Given the description of an element on the screen output the (x, y) to click on. 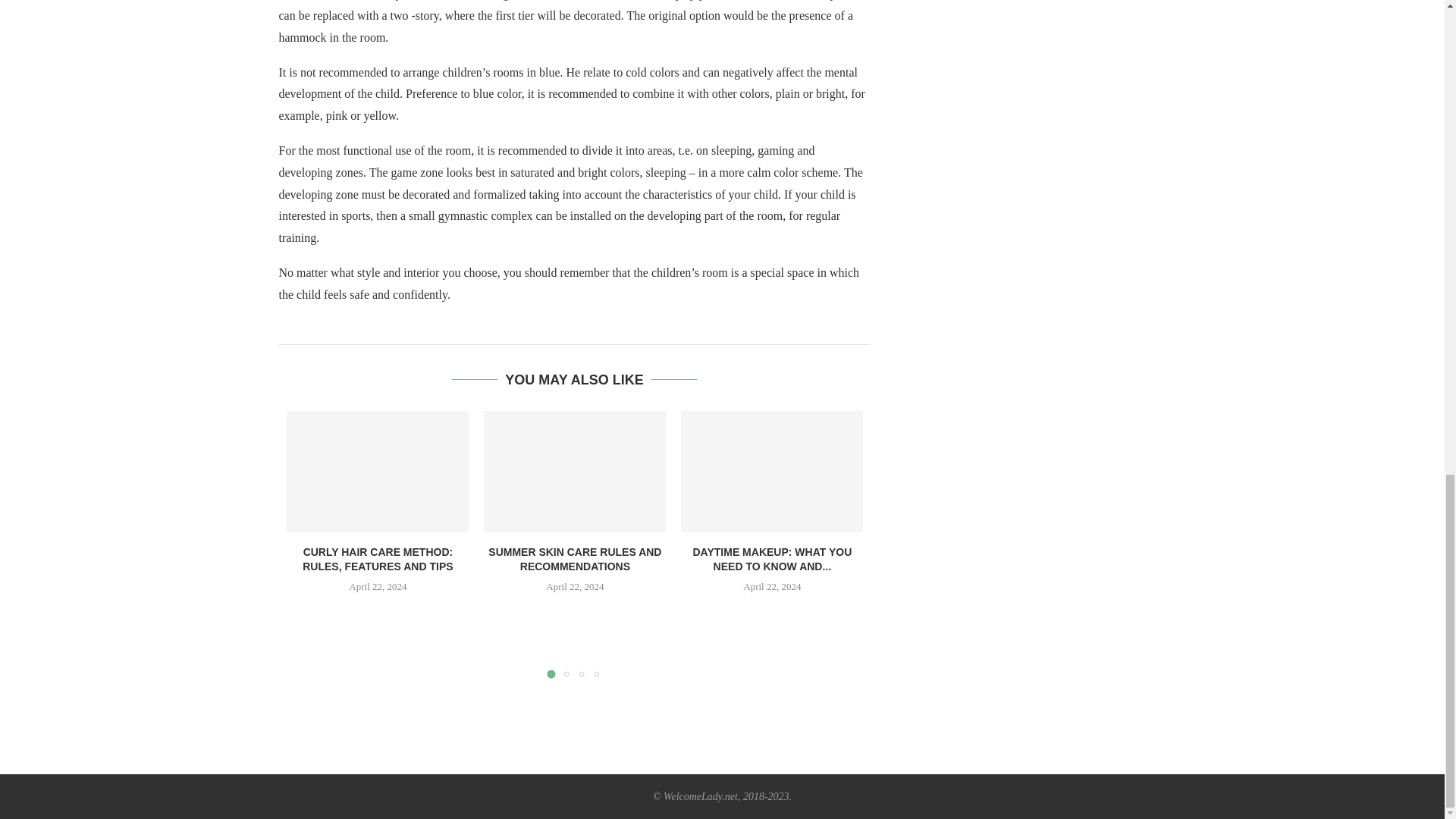
Summer skin care rules and recommendations (574, 471)
Daytime makeup: what you need to know and rules (772, 471)
Curly hair care method: rules, features and tips (377, 471)
